Given the description of an element on the screen output the (x, y) to click on. 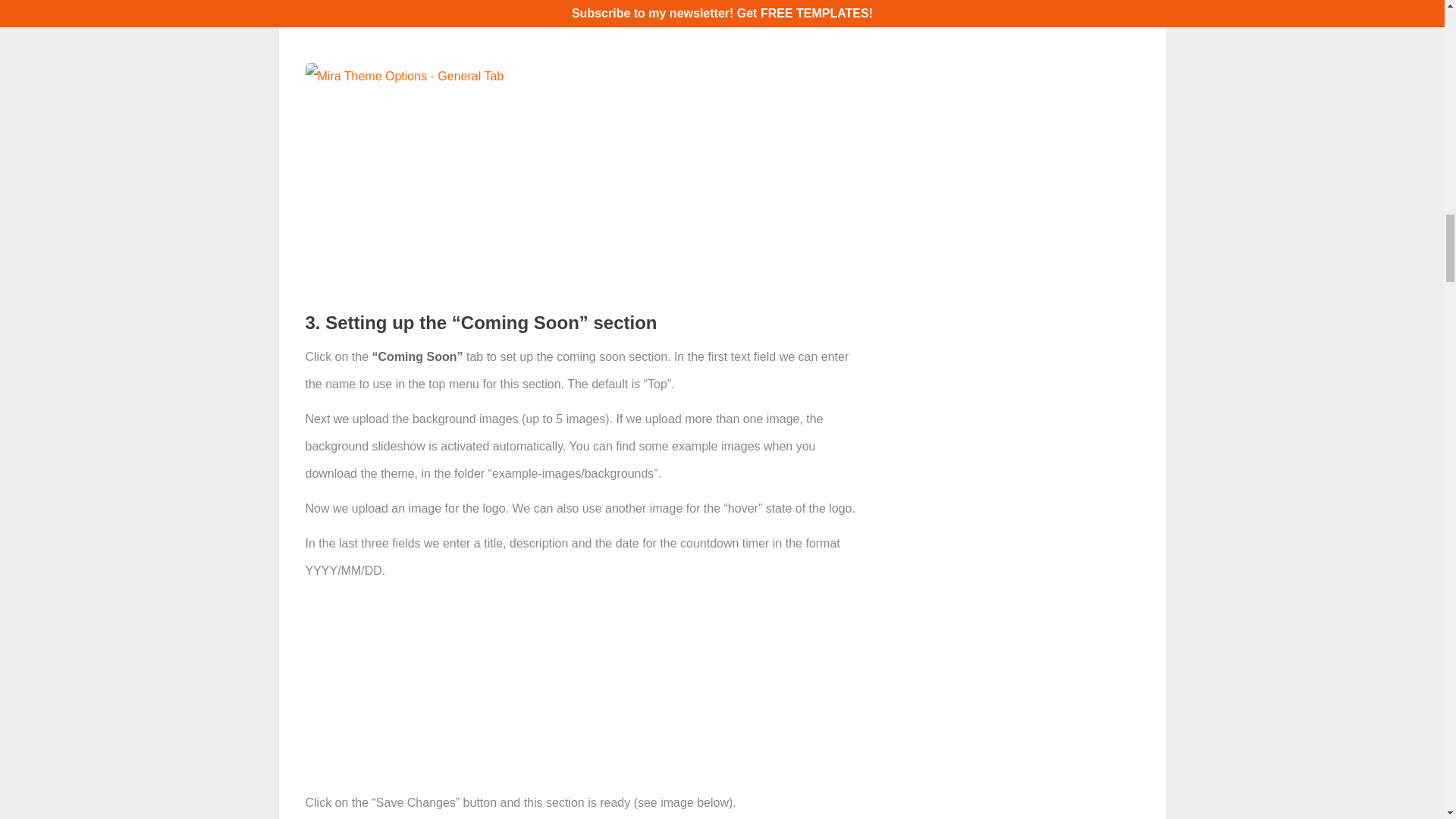
Mira Theme Options - General Tab (403, 76)
